Given the description of an element on the screen output the (x, y) to click on. 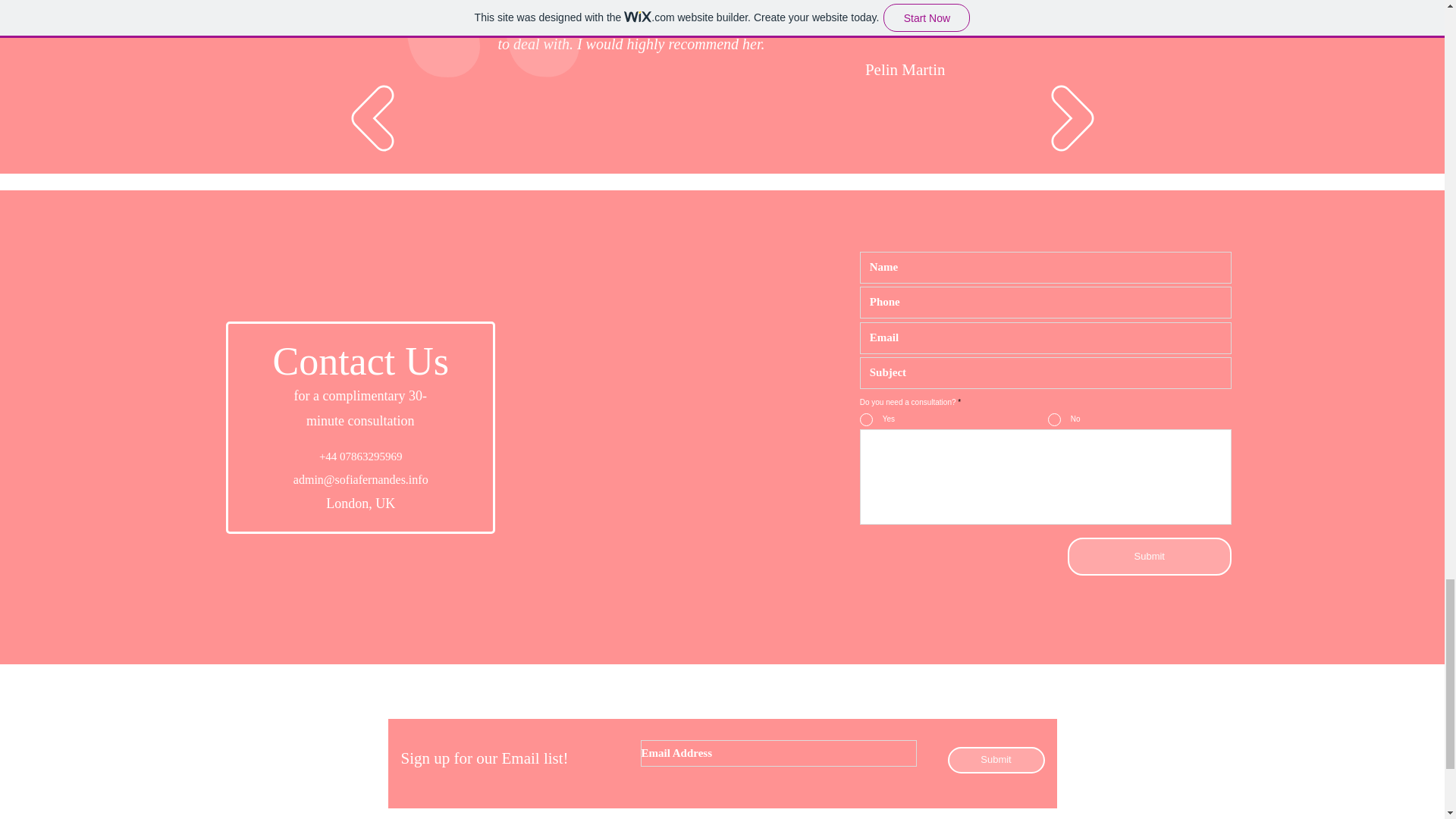
Submit (1149, 556)
Submit (996, 759)
